Given the description of an element on the screen output the (x, y) to click on. 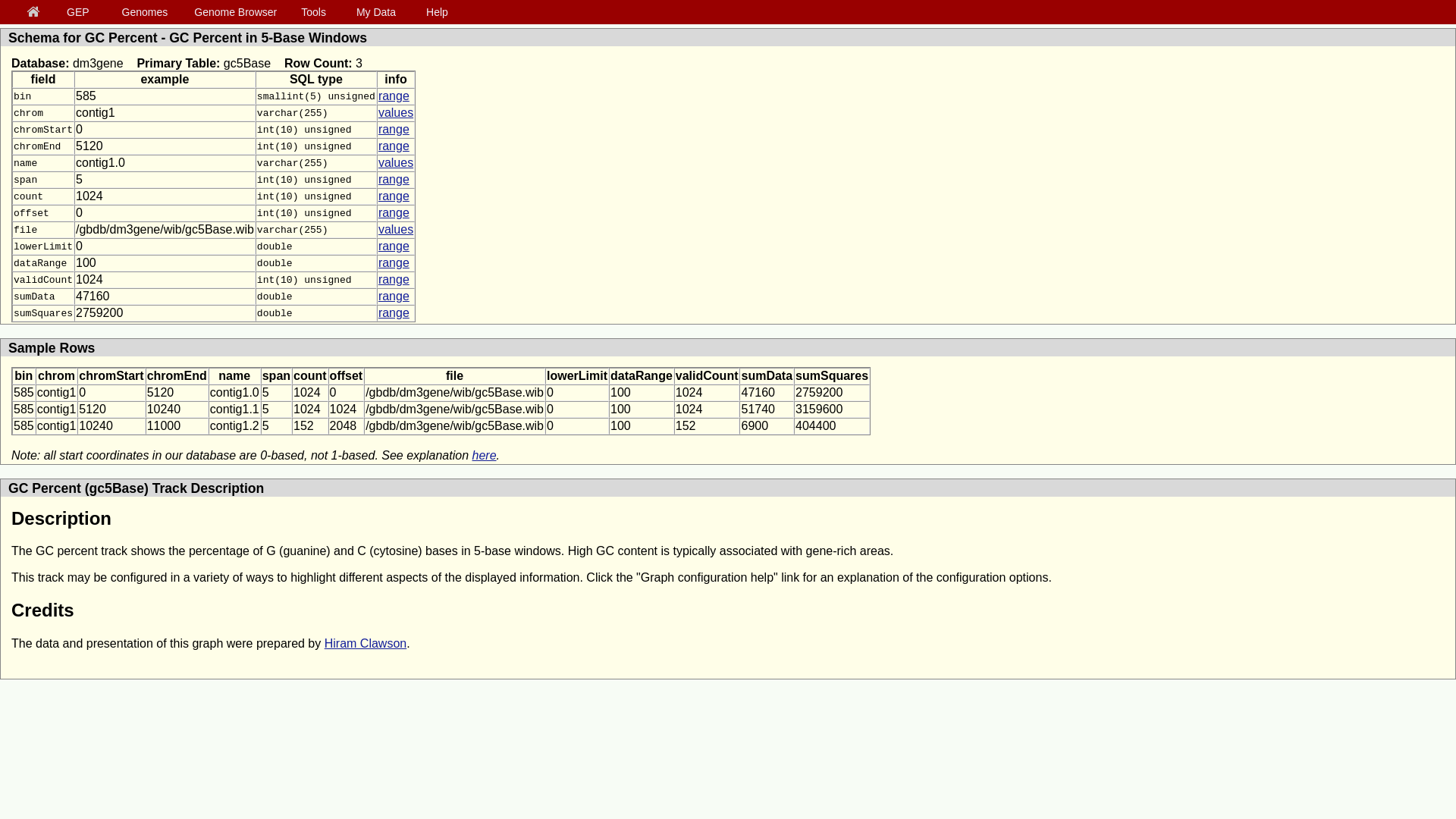
range (393, 245)
values (395, 162)
Home (36, 12)
range (393, 145)
values (395, 228)
range (393, 212)
range (393, 195)
Genome Browser (237, 11)
range (393, 95)
range (393, 128)
Genomes (147, 11)
values (395, 112)
range (393, 178)
